Given the description of an element on the screen output the (x, y) to click on. 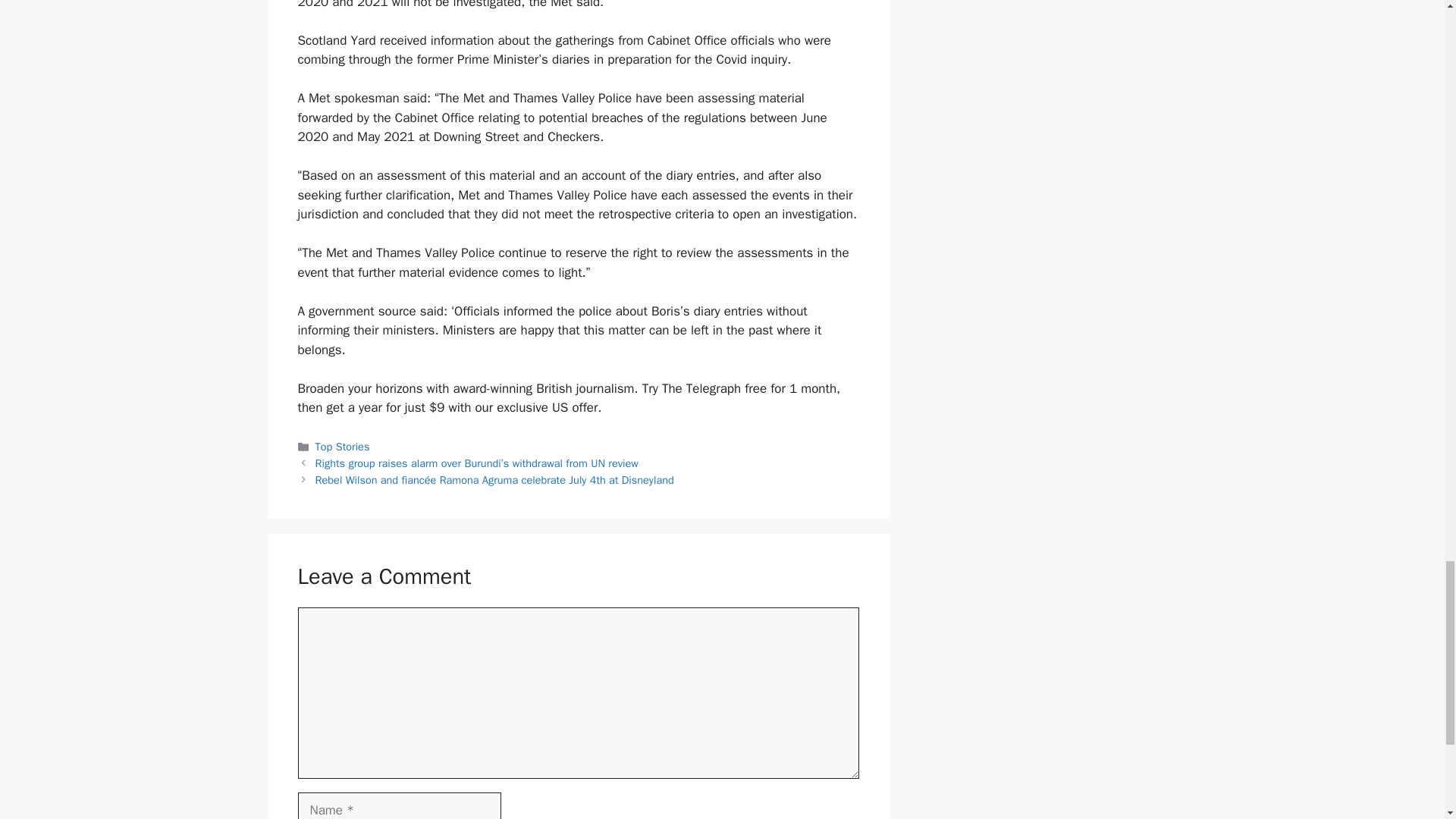
Top Stories (342, 446)
